Given the description of an element on the screen output the (x, y) to click on. 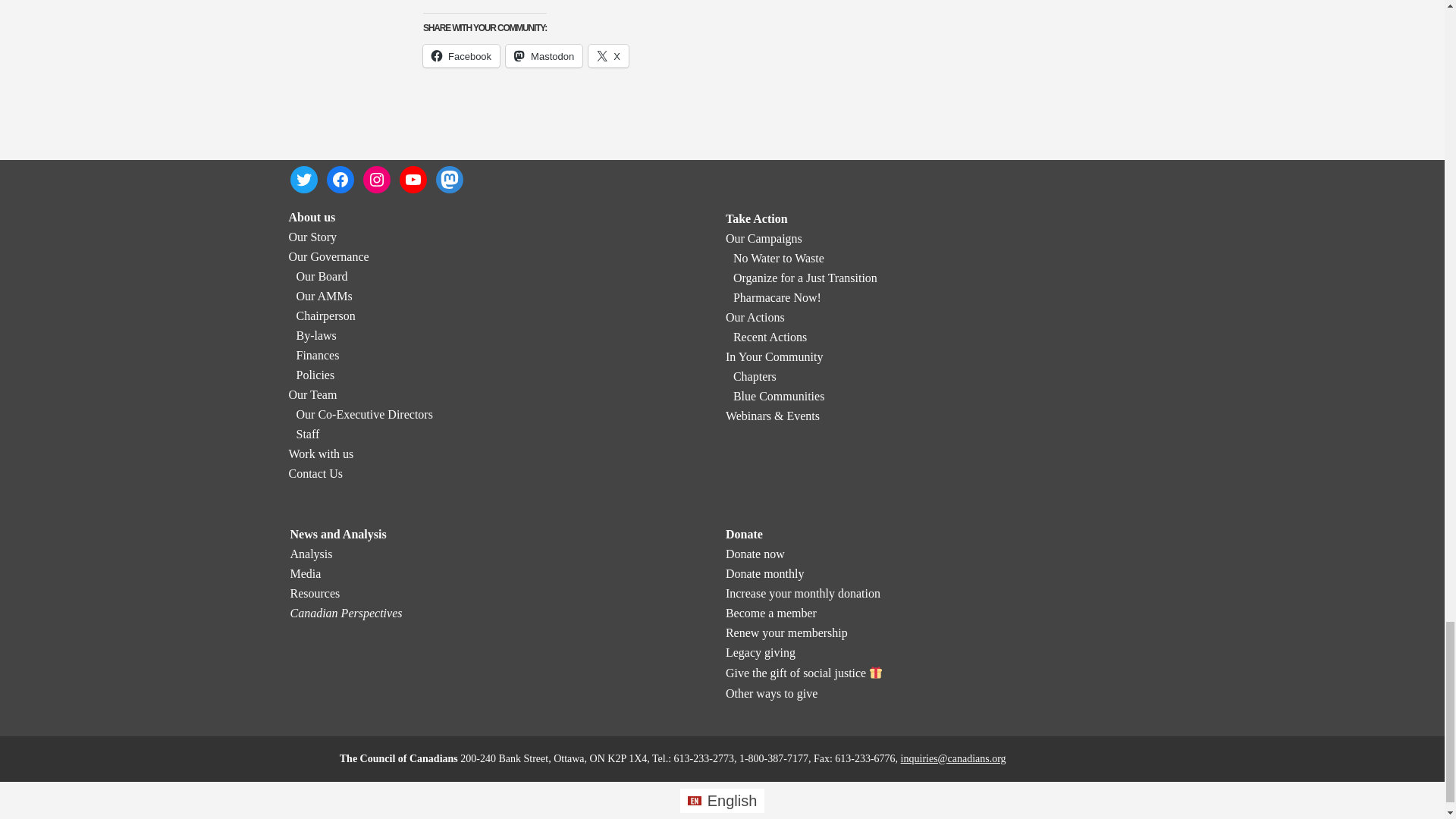
Click to share on Facebook (461, 56)
Facebook (461, 56)
X (608, 56)
Our Board (321, 276)
By-laws (315, 335)
Mastodon (543, 56)
Click to share on Mastodon (543, 56)
About us (311, 216)
Click to share on X (608, 56)
Our Governance (328, 256)
